Given the description of an element on the screen output the (x, y) to click on. 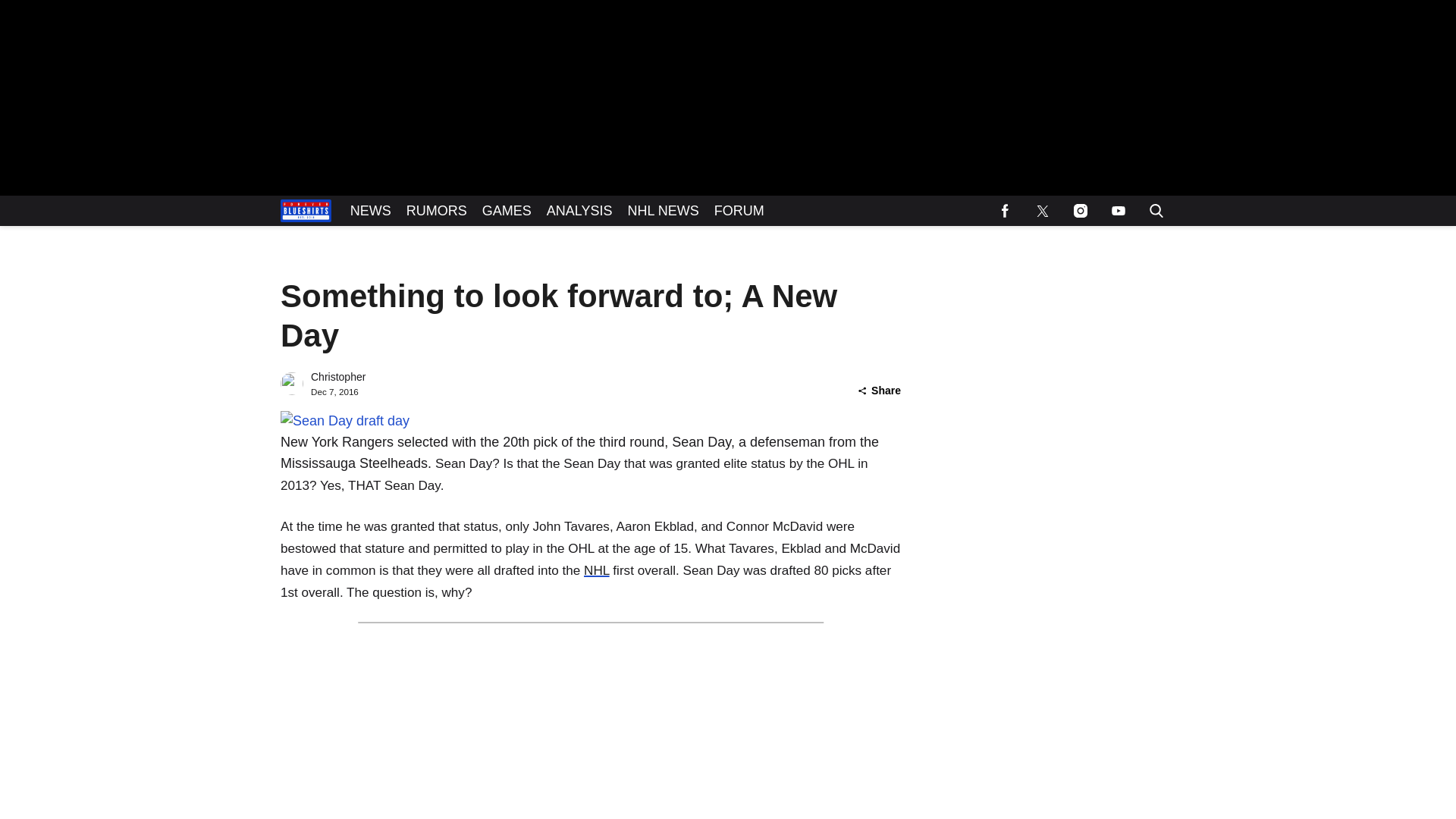
Posts by Christopher (338, 376)
FORUM (738, 210)
NHL (596, 569)
NHL NEWS (663, 210)
GAMES (506, 210)
Follow us on Facebook (1004, 210)
Subscribe to our YouTube channel (1118, 210)
NHL (596, 569)
Follow us on Instagram (1080, 210)
NEWS (370, 210)
